Given the description of an element on the screen output the (x, y) to click on. 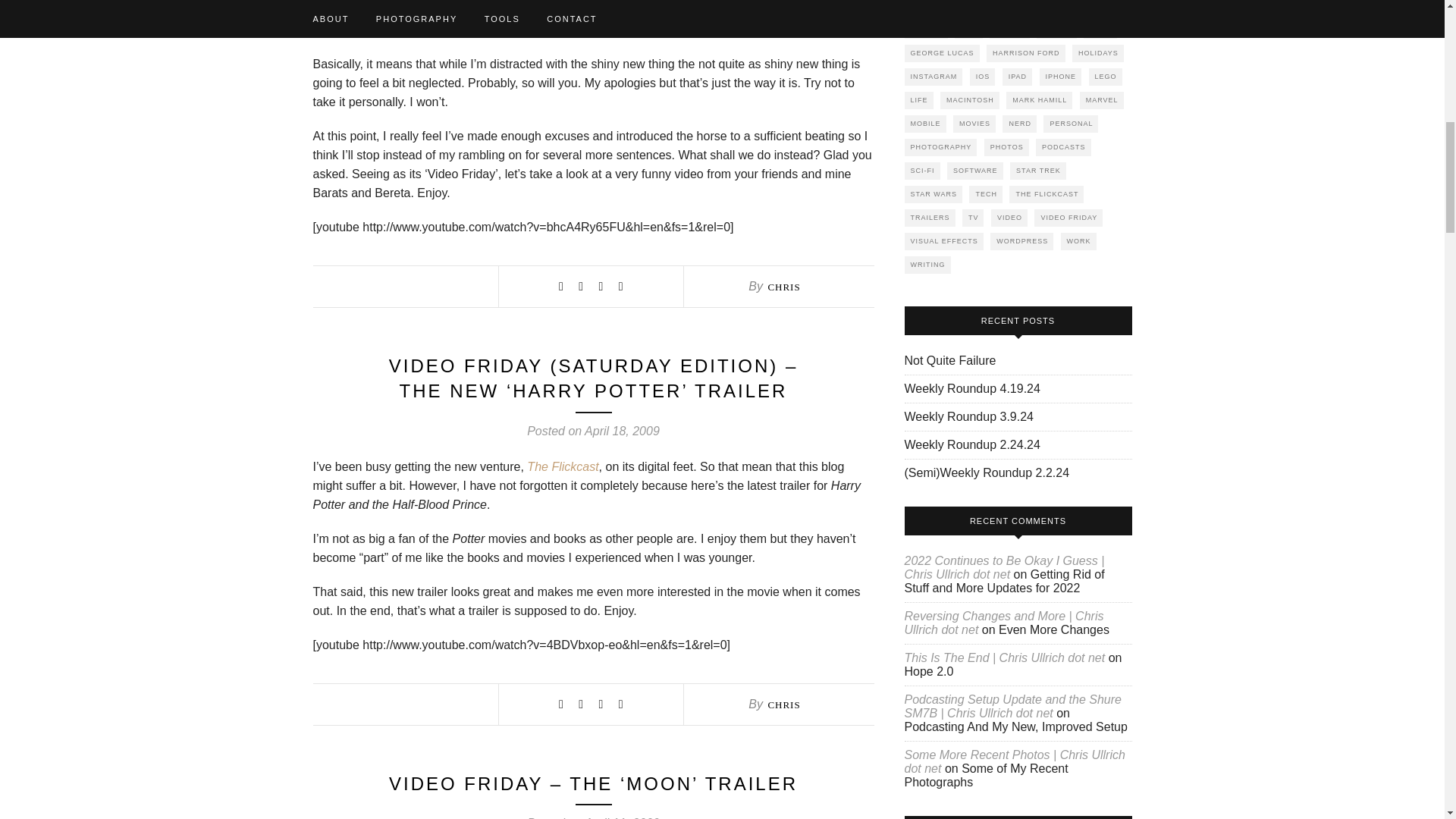
CHRIS (783, 704)
Posts by Chris (783, 286)
Posts by Chris (783, 704)
The Flickcast (562, 466)
CHRIS (783, 286)
